Given the description of an element on the screen output the (x, y) to click on. 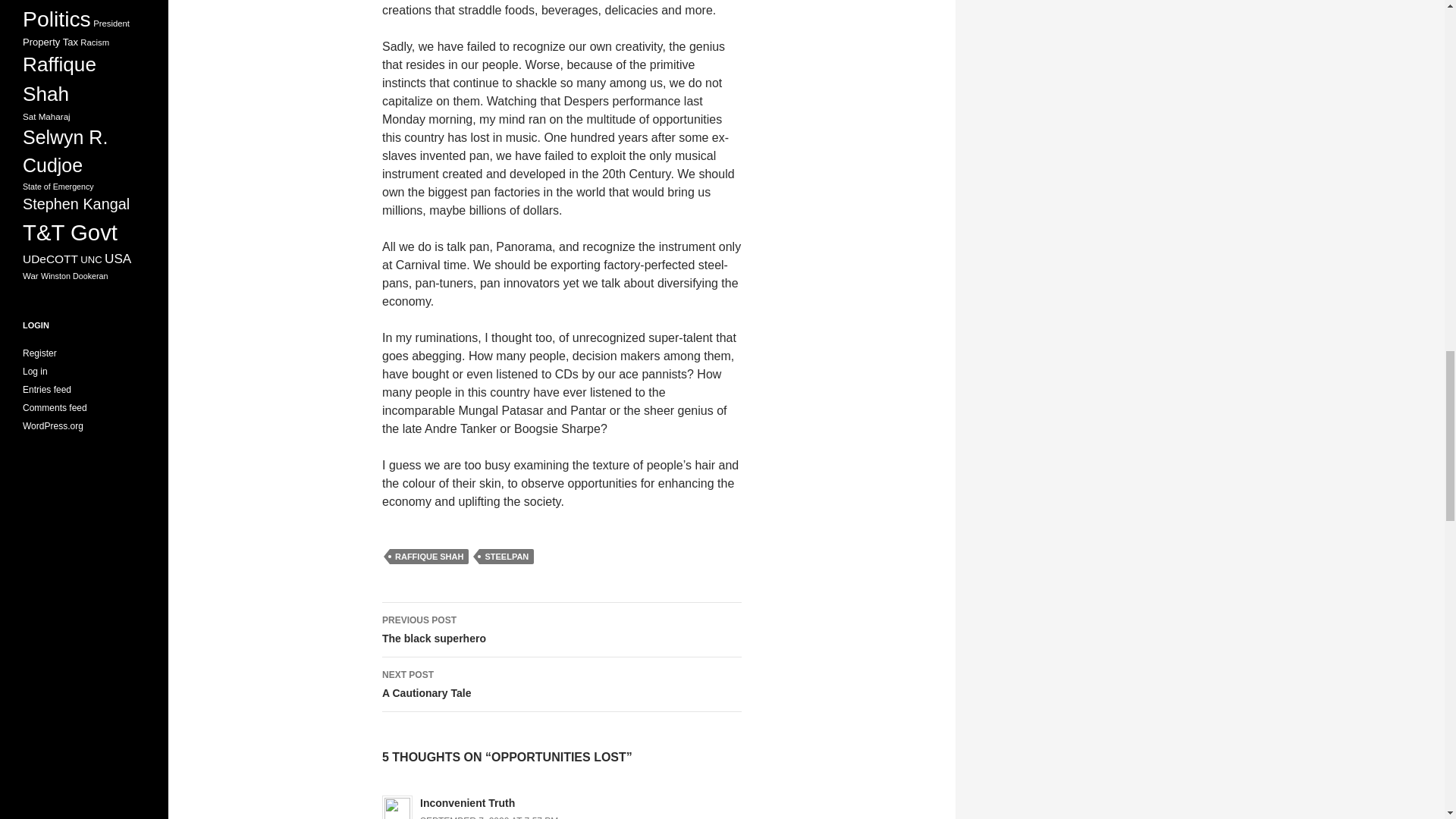
SEPTEMBER 7, 2020 AT 7:57 PM (561, 684)
RAFFIQUE SHAH (561, 629)
STEELPAN (488, 817)
